Given the description of an element on the screen output the (x, y) to click on. 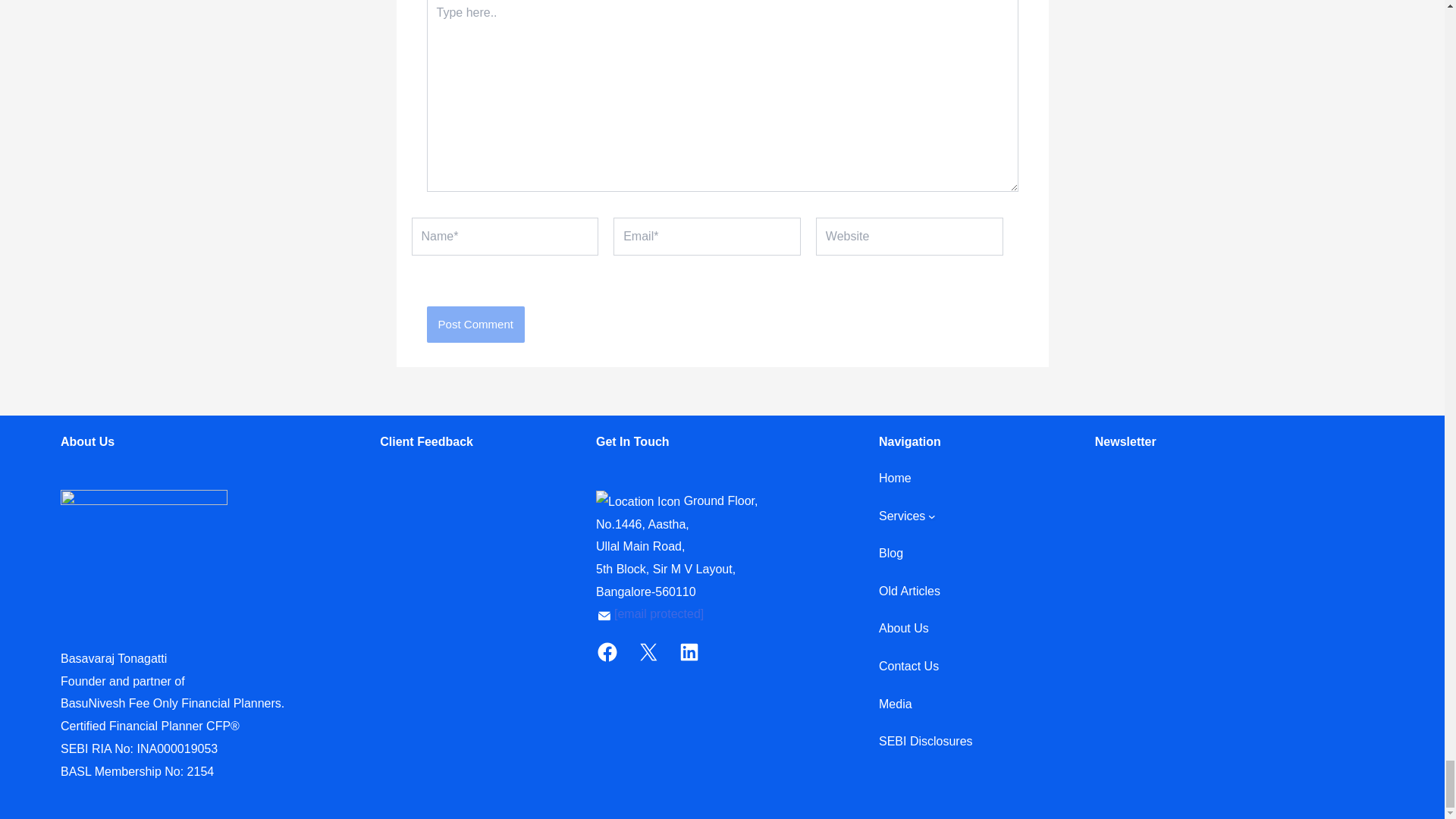
Post Comment (475, 324)
